Given the description of an element on the screen output the (x, y) to click on. 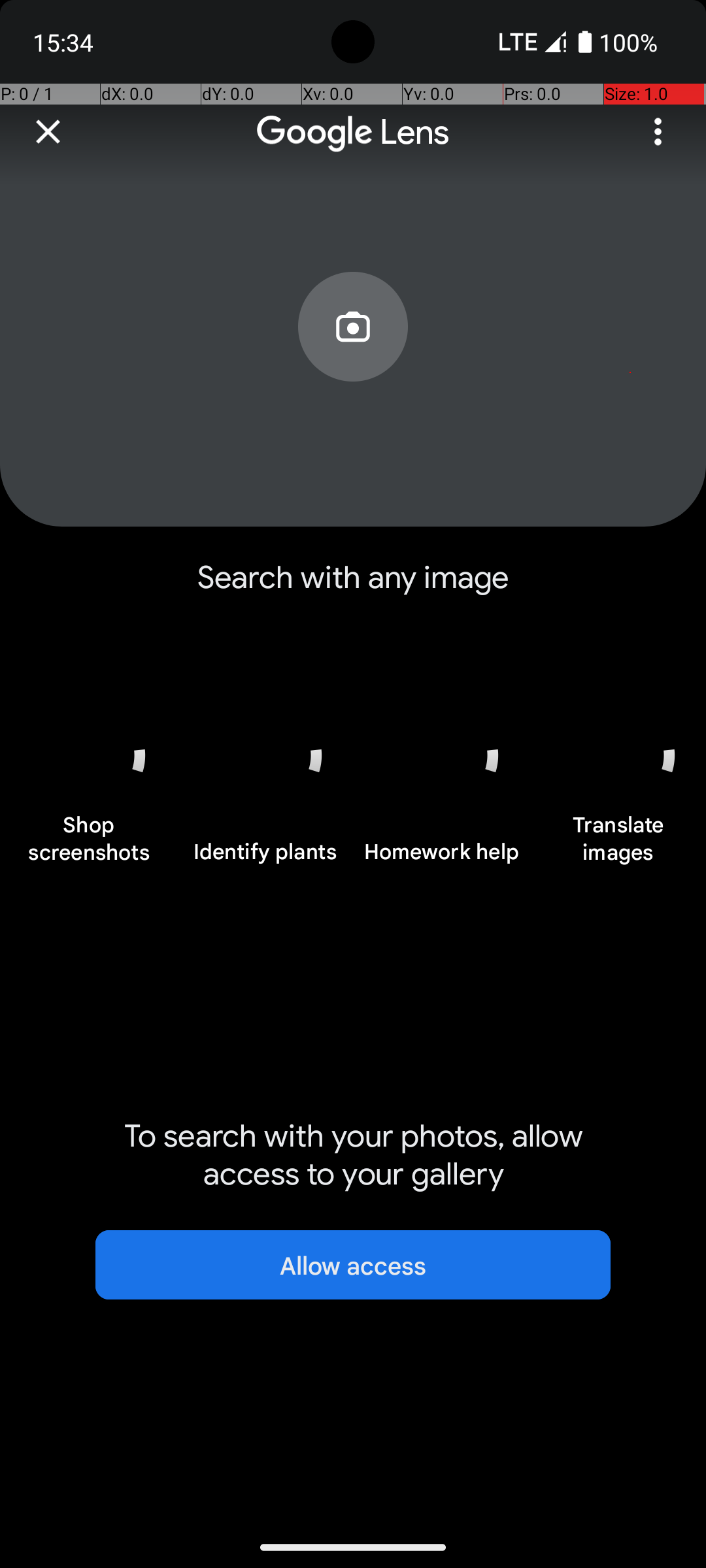
Search with your camera Element type: android.widget.FrameLayout (353, 356)
Search with any image Element type: android.widget.TextView (353, 587)
Shop screenshots Element type: android.widget.TextView (88, 845)
Identify plants Element type: android.widget.TextView (264, 858)
Homework help Element type: android.widget.TextView (441, 858)
Translate images Element type: android.widget.TextView (617, 845)
To search with your photos, allow access to your gallery Element type: android.widget.TextView (352, 1154)
Allow access Element type: android.widget.Button (352, 1264)
